Given the description of an element on the screen output the (x, y) to click on. 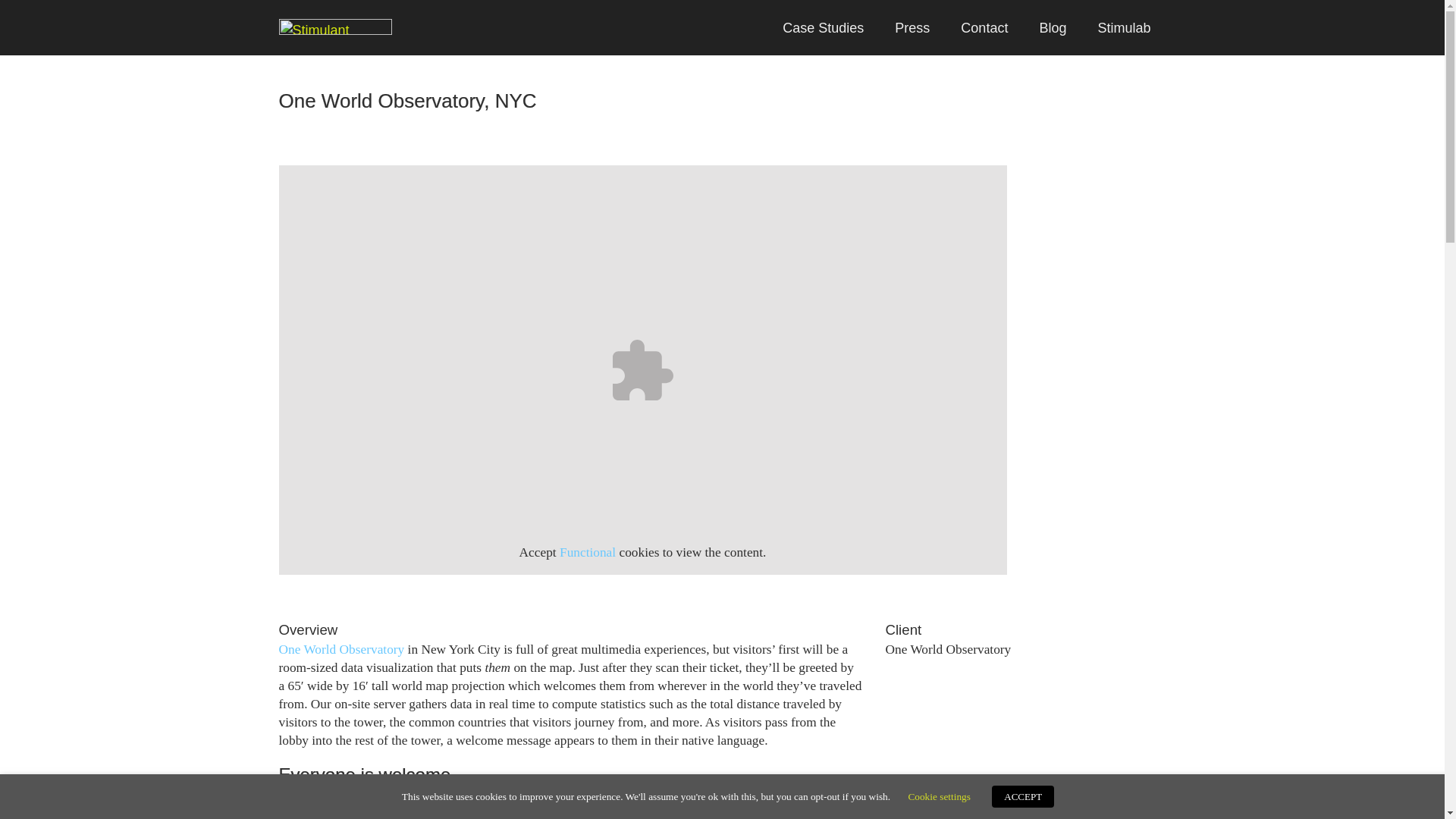
Contact (983, 27)
Cookie settings (939, 796)
Blog (1052, 27)
One World Observatory (341, 649)
Case Studies (823, 27)
Stimulab (1123, 27)
ACCEPT (1022, 796)
Functional (587, 552)
Press (911, 27)
